Given the description of an element on the screen output the (x, y) to click on. 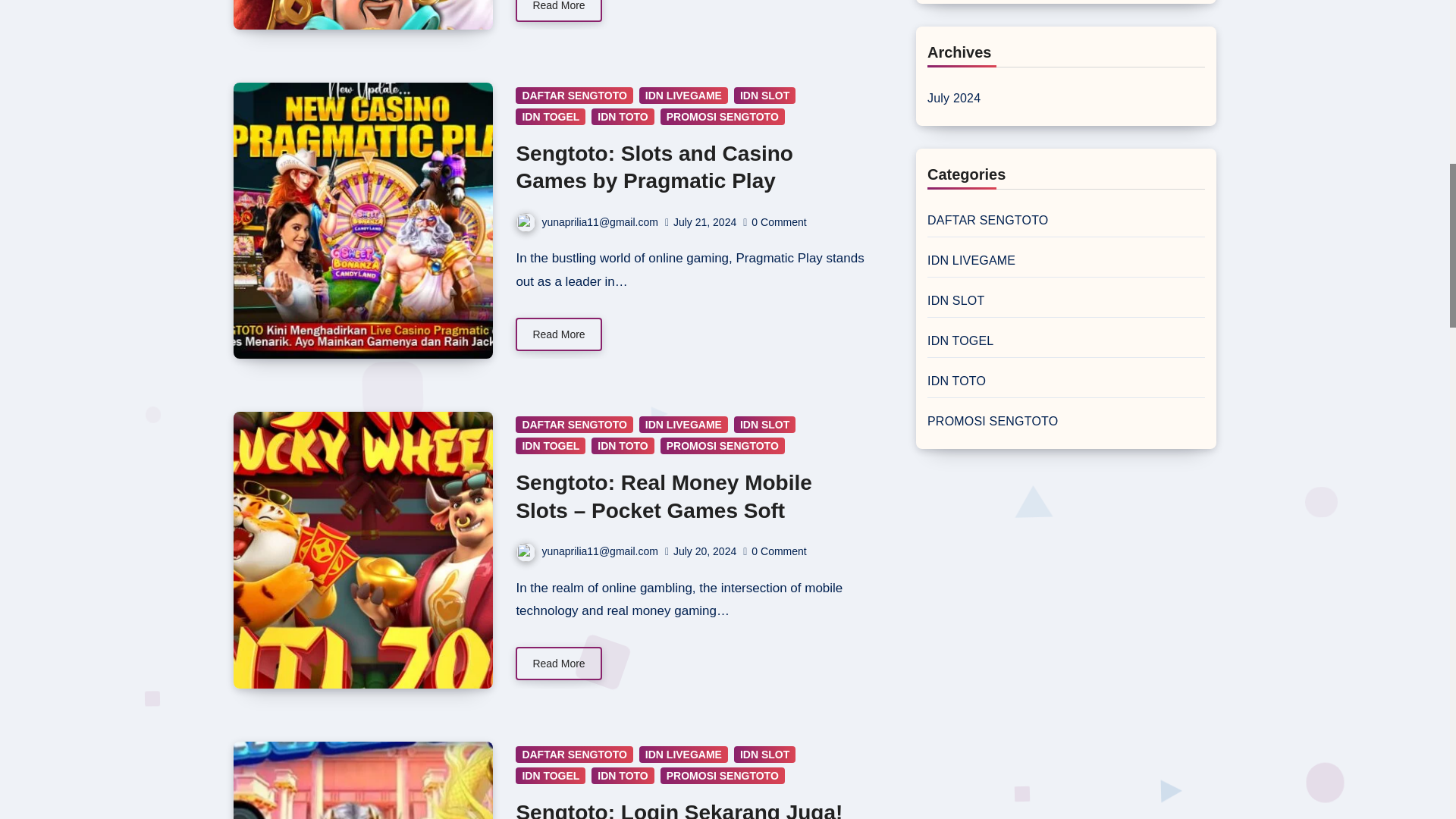
IDN TOGEL (550, 116)
Sengtoto: Slots and Casino Games by Pragmatic Play (654, 166)
DAFTAR SENGTOTO (573, 95)
IDN TOTO (622, 116)
IDN SLOT (763, 95)
IDN LIVEGAME (683, 95)
Read More (558, 11)
PROMOSI SENGTOTO (722, 116)
